Given the description of an element on the screen output the (x, y) to click on. 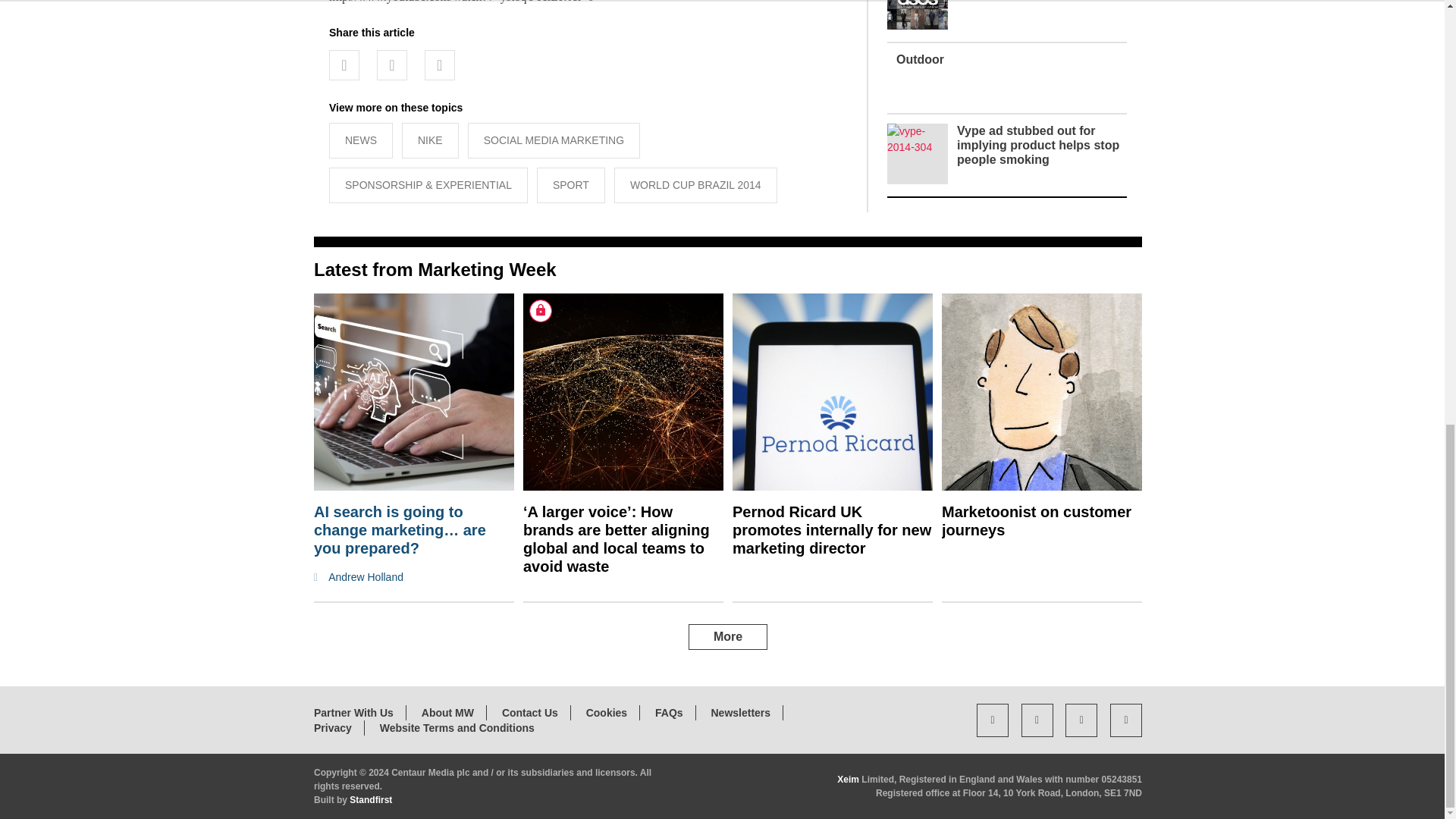
SPORT (571, 185)
WORLD CUP BRAZIL 2014 (695, 185)
SOCIAL MEDIA MARKETING (553, 140)
Privacy (333, 727)
NIKE (429, 140)
NEWS (361, 140)
